Given the description of an element on the screen output the (x, y) to click on. 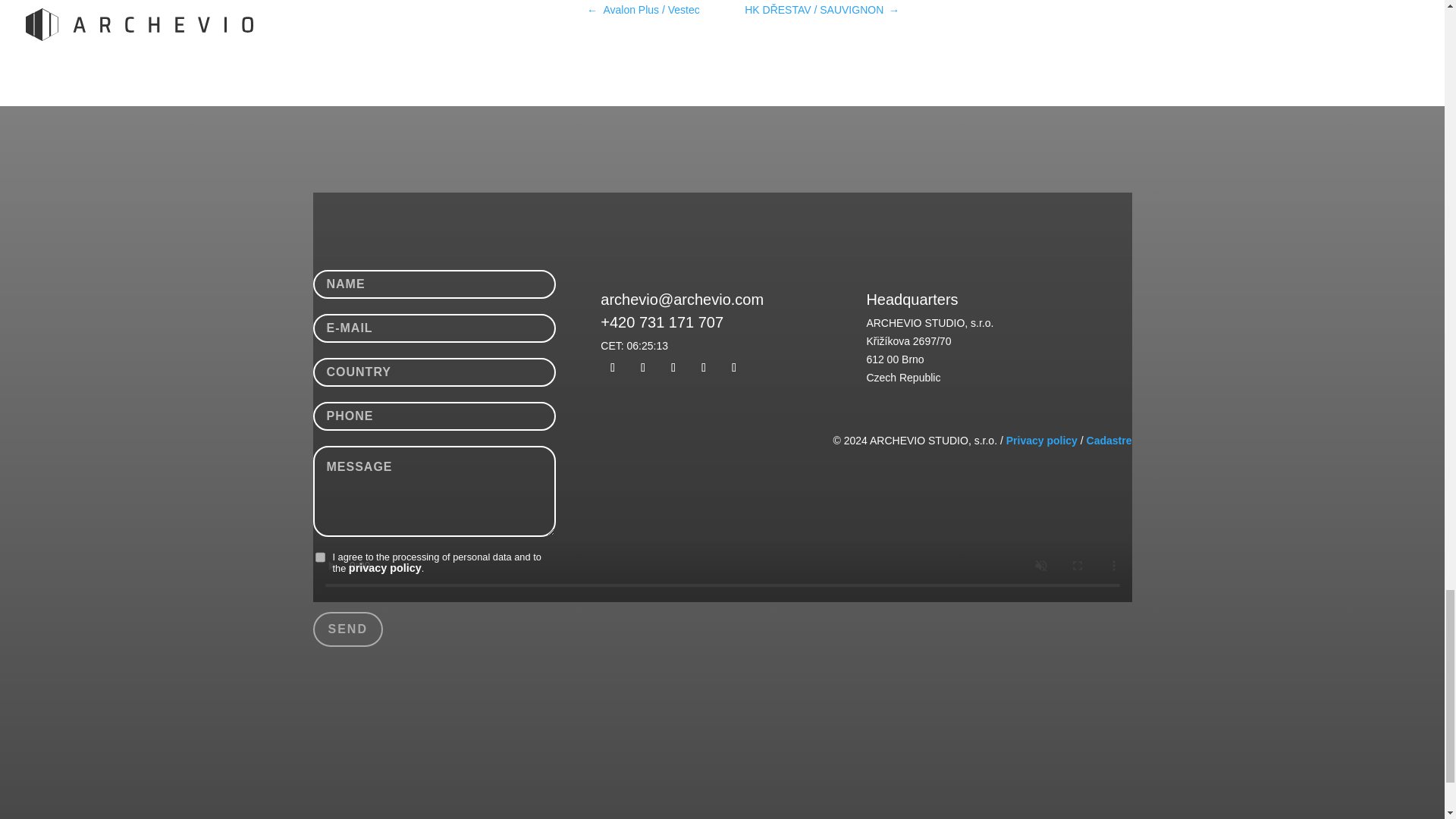
Privacy policy (1041, 440)
SEND (347, 629)
Follow on Facebook (673, 367)
Follow on LinkedIn (733, 367)
Follow on Instagram (703, 367)
Follow on Behance (642, 367)
privacy policy (385, 567)
Cadastre (1109, 440)
Follow on WhatsApp (611, 367)
